Given the description of an element on the screen output the (x, y) to click on. 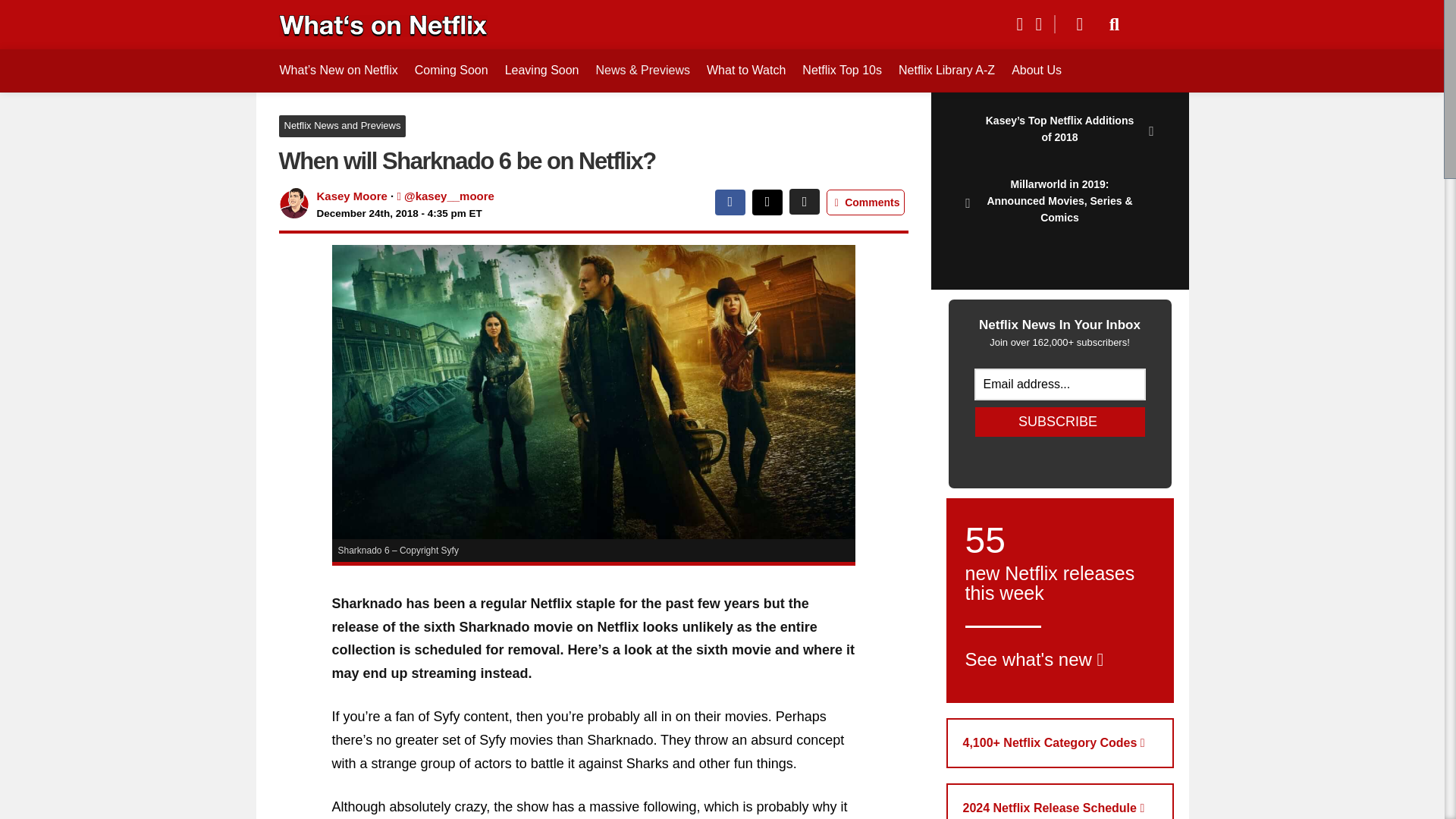
Netflix Library A-Z (946, 70)
Search What's on Netflix (1114, 24)
2024 Netflix Release Schedule (1059, 800)
Every Netflix Category Code (1059, 742)
Subscribe  (1059, 599)
Subscribe to What's on Netflix (1059, 421)
Netflix News and Previews (1073, 24)
About Us (342, 126)
